Given the description of an element on the screen output the (x, y) to click on. 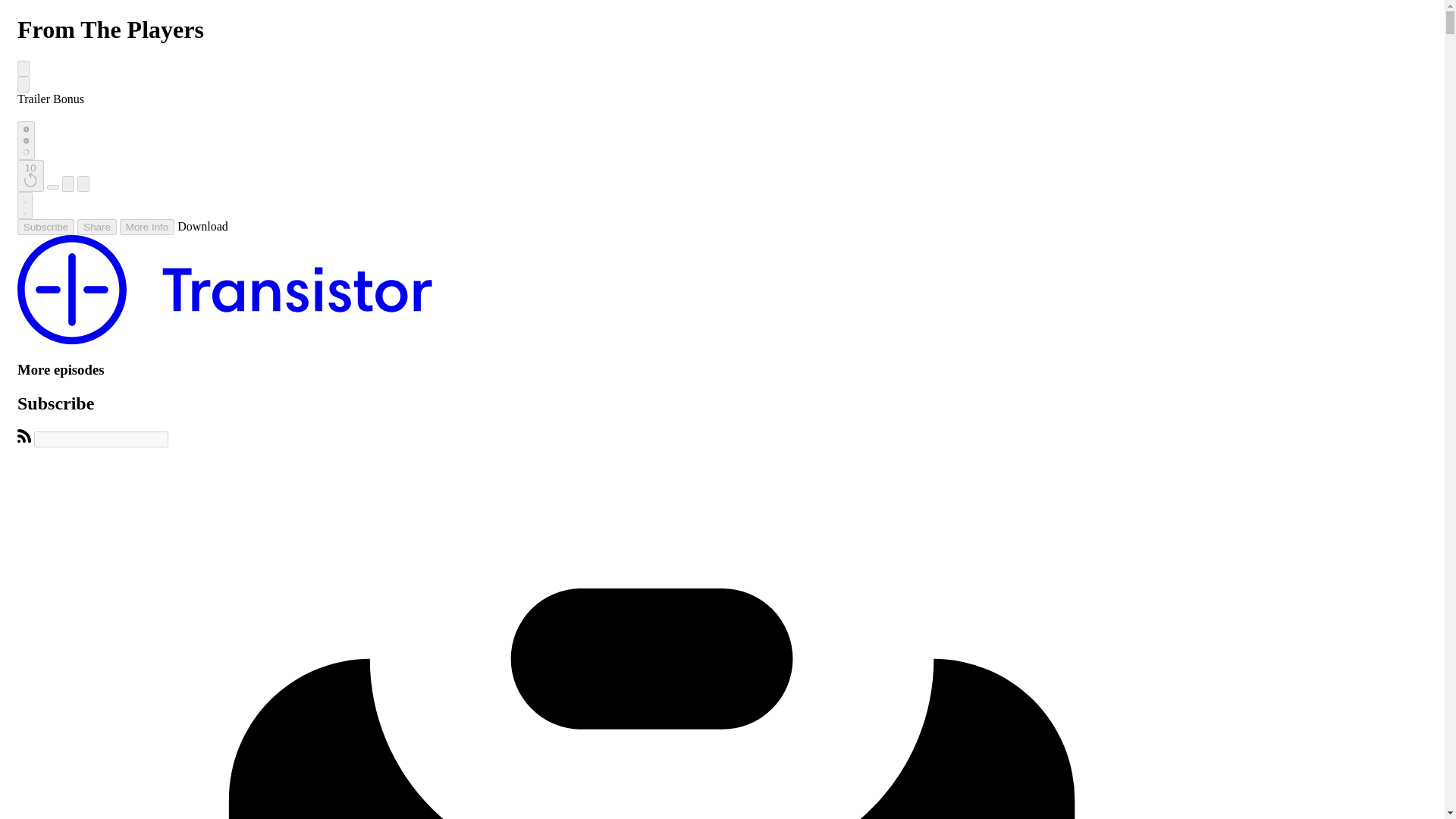
Subscribe (45, 227)
Show episode details (146, 227)
More Info (146, 227)
Share (96, 227)
Download (202, 226)
Visit Transistor.fm - Podcast Hosting and Analytics (224, 339)
Show subscribe options (45, 227)
Show sharing options (96, 227)
Download MP3 (202, 226)
